Given the description of an element on the screen output the (x, y) to click on. 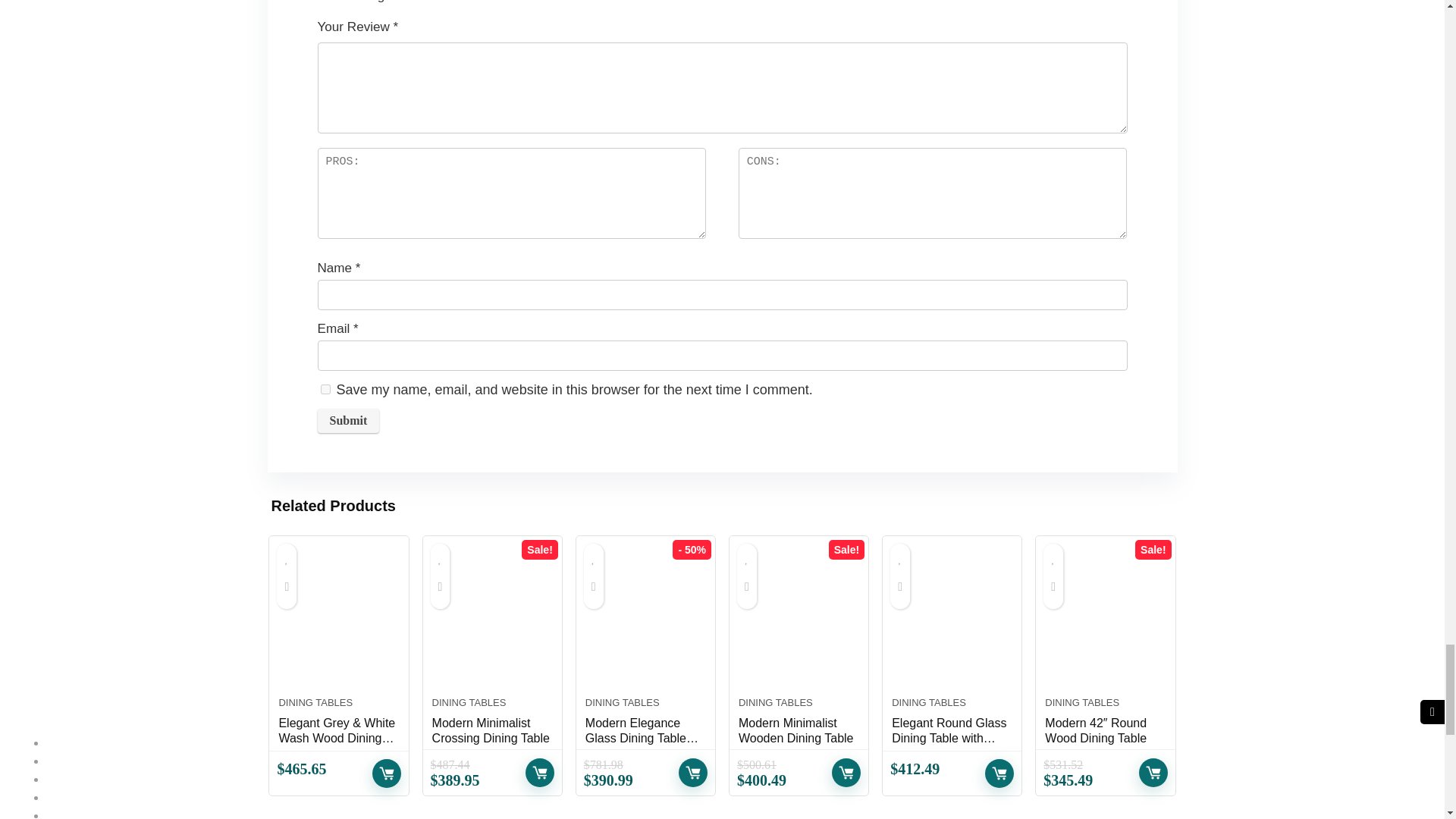
Submit (347, 420)
yes (325, 388)
Modern Minimalist Crossing Dining Table (492, 624)
Modern Elegance Glass Dining Table with Metal Legs (645, 624)
